Given the description of an element on the screen output the (x, y) to click on. 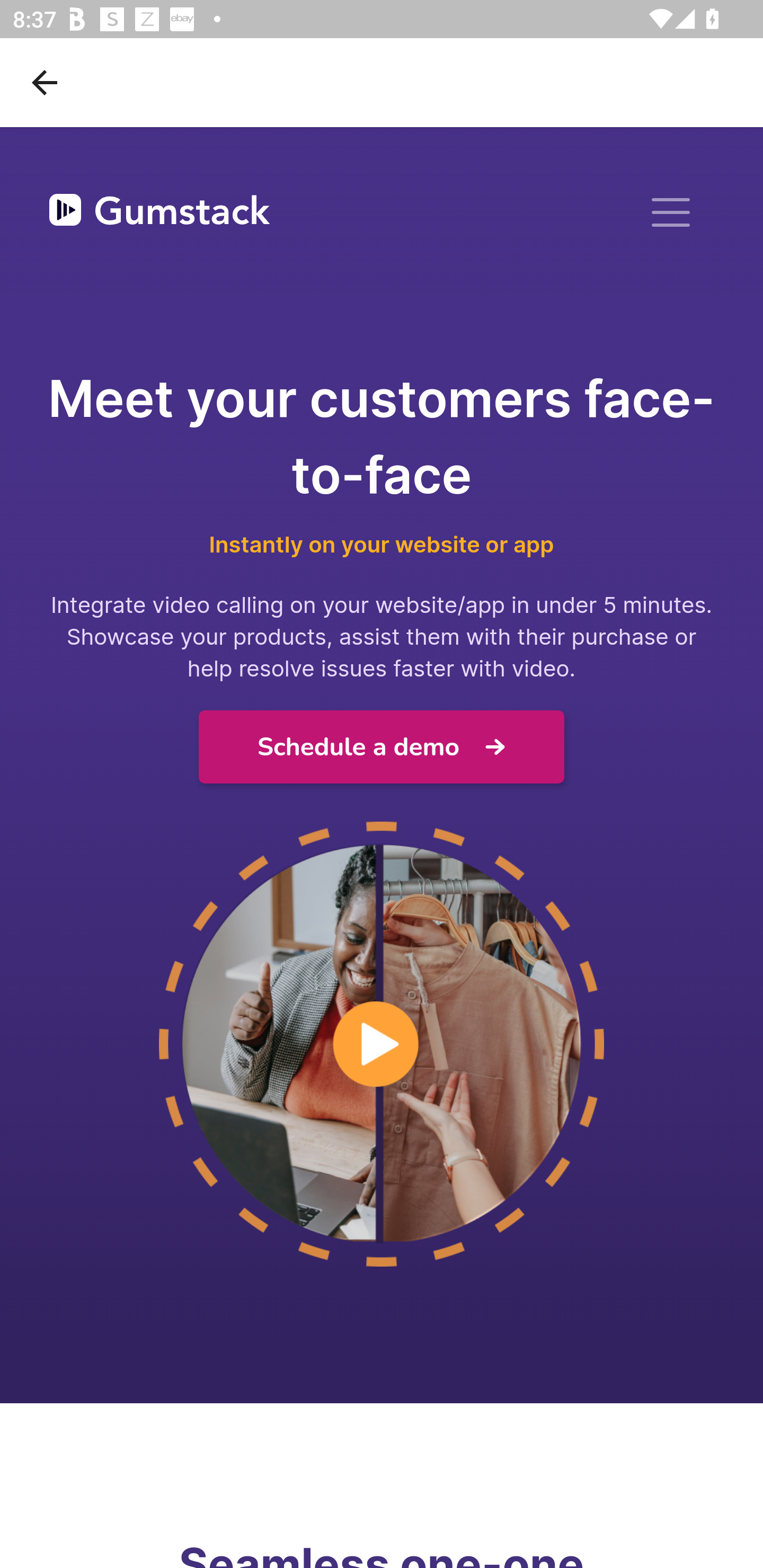
Navigate up (44, 82)
Gumstack Logo (159, 212)
Toggle navigation (670, 212)
Schedule a demo Sorry image is not available (381, 747)
Image not available (381, 1044)
